Given the description of an element on the screen output the (x, y) to click on. 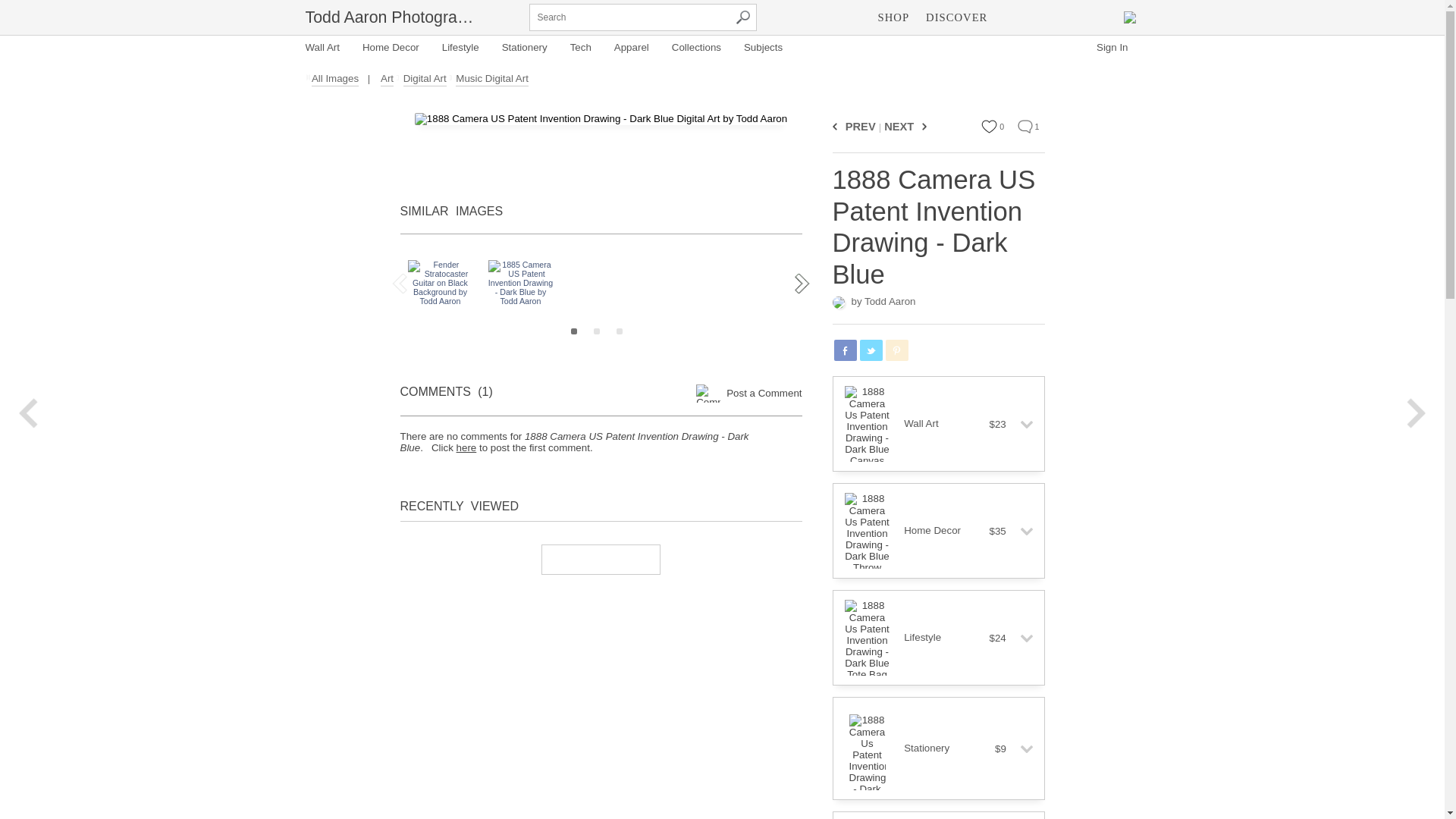
Share Product on Pinterest (896, 350)
Todd Aaron Photography (390, 16)
DISCOVER (956, 16)
Search (742, 17)
Comment (1024, 126)
Share Product on Twitter (871, 350)
Expand Product (1020, 424)
Next Image (921, 126)
Share Product on Facebook (845, 350)
Previous Image (837, 126)
SHOP (892, 16)
Favorite (989, 126)
